Given the description of an element on the screen output the (x, y) to click on. 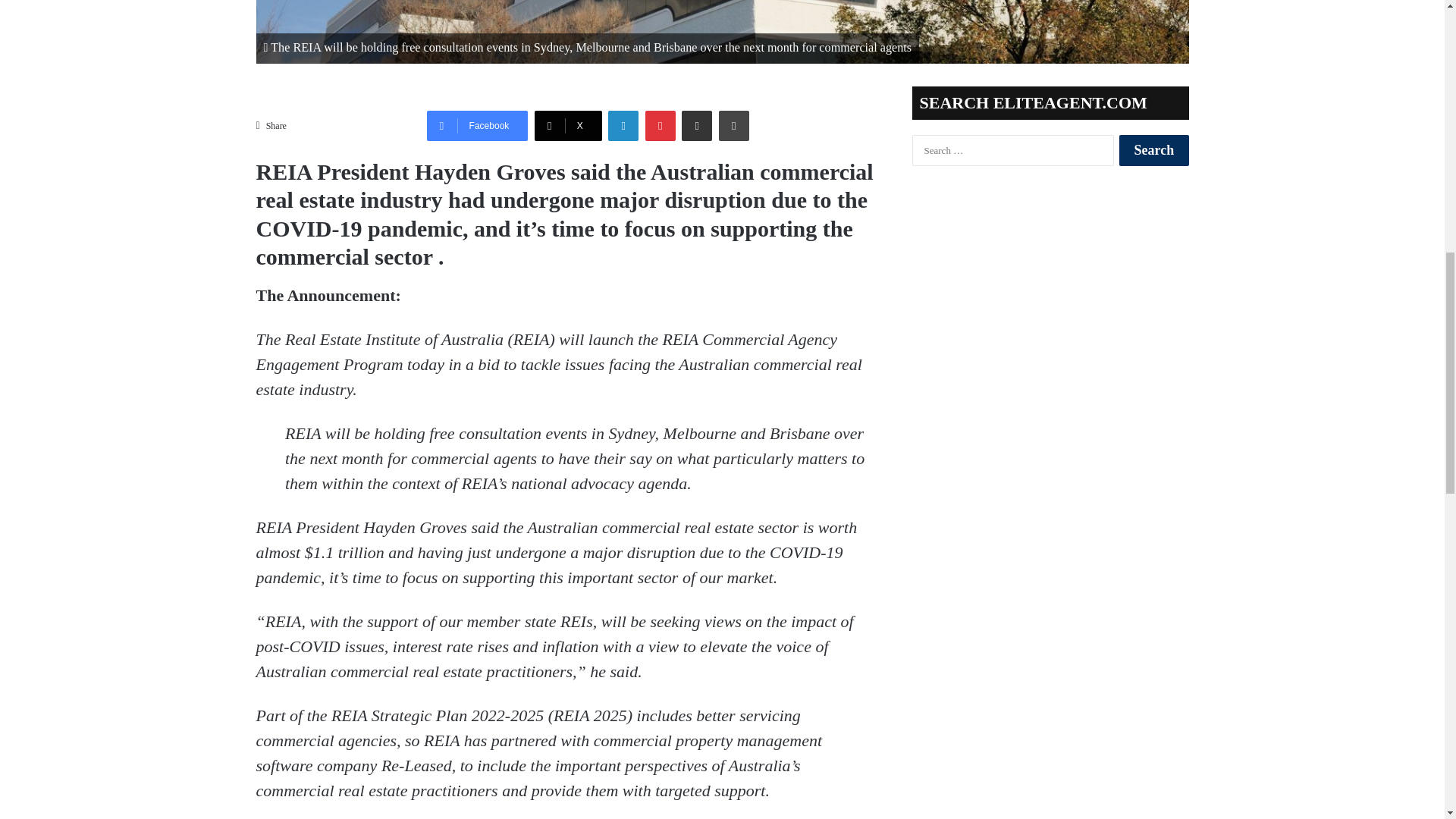
LinkedIn (623, 125)
Search (1153, 150)
Pinterest (660, 125)
X (568, 125)
Share via Email (696, 125)
Facebook (477, 125)
Search (1153, 150)
Print (734, 125)
